Given the description of an element on the screen output the (x, y) to click on. 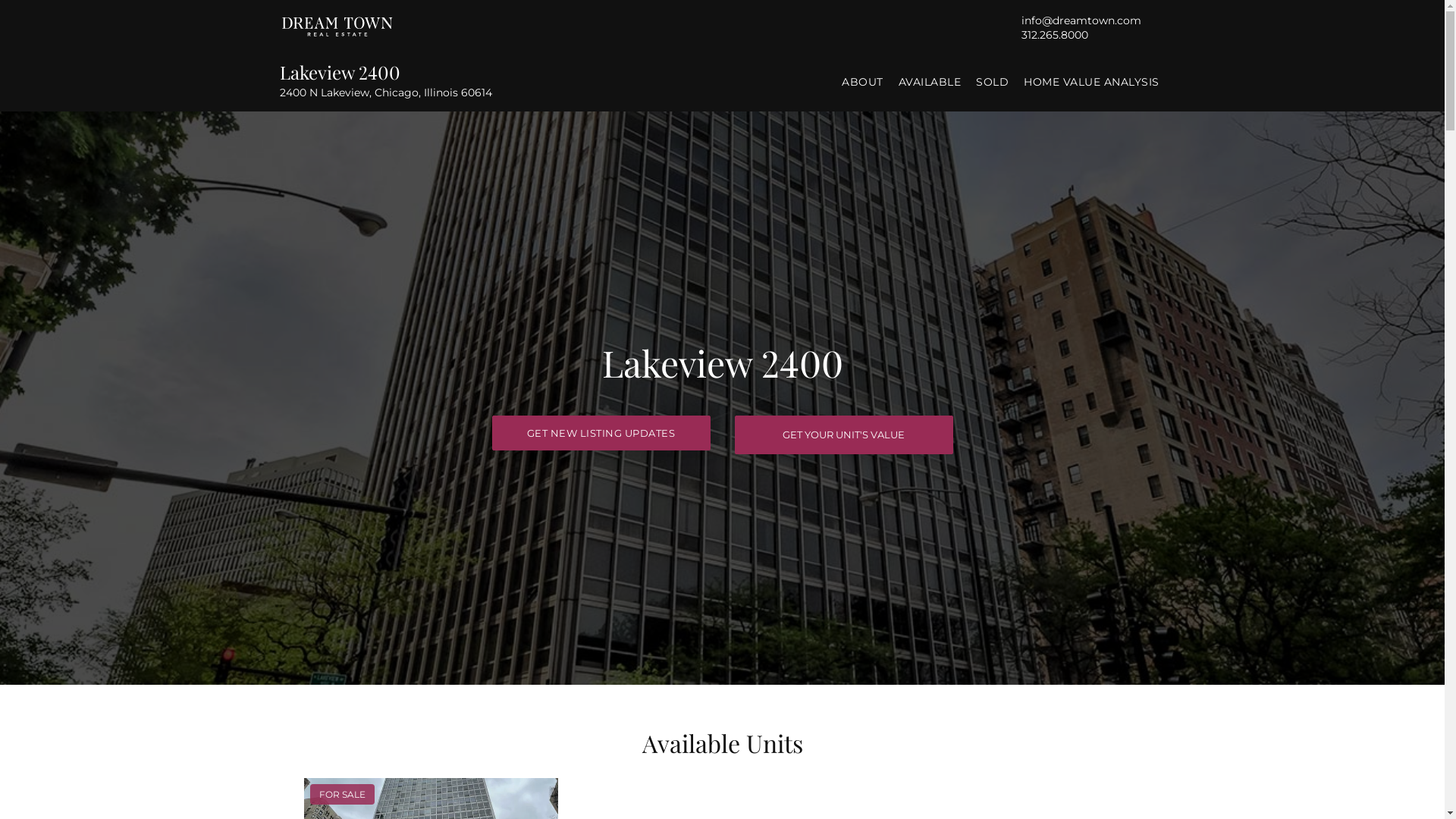
Lakeview 2400
2400 N Lakeview, Chicago, Illinois 60614 Element type: text (418, 80)
312.265.8000 Element type: text (1053, 33)
HOME VALUE ANALYSIS Element type: text (1091, 81)
ABOUT Element type: text (862, 81)
GET NEW LISTING UPDATES Element type: text (600, 432)
SOLD Element type: text (991, 81)
info@dreamtown.com Element type: text (1080, 20)
AVAILABLE Element type: text (928, 81)
GET YOUR UNIT'S VALUE Element type: text (843, 434)
